Given the description of an element on the screen output the (x, y) to click on. 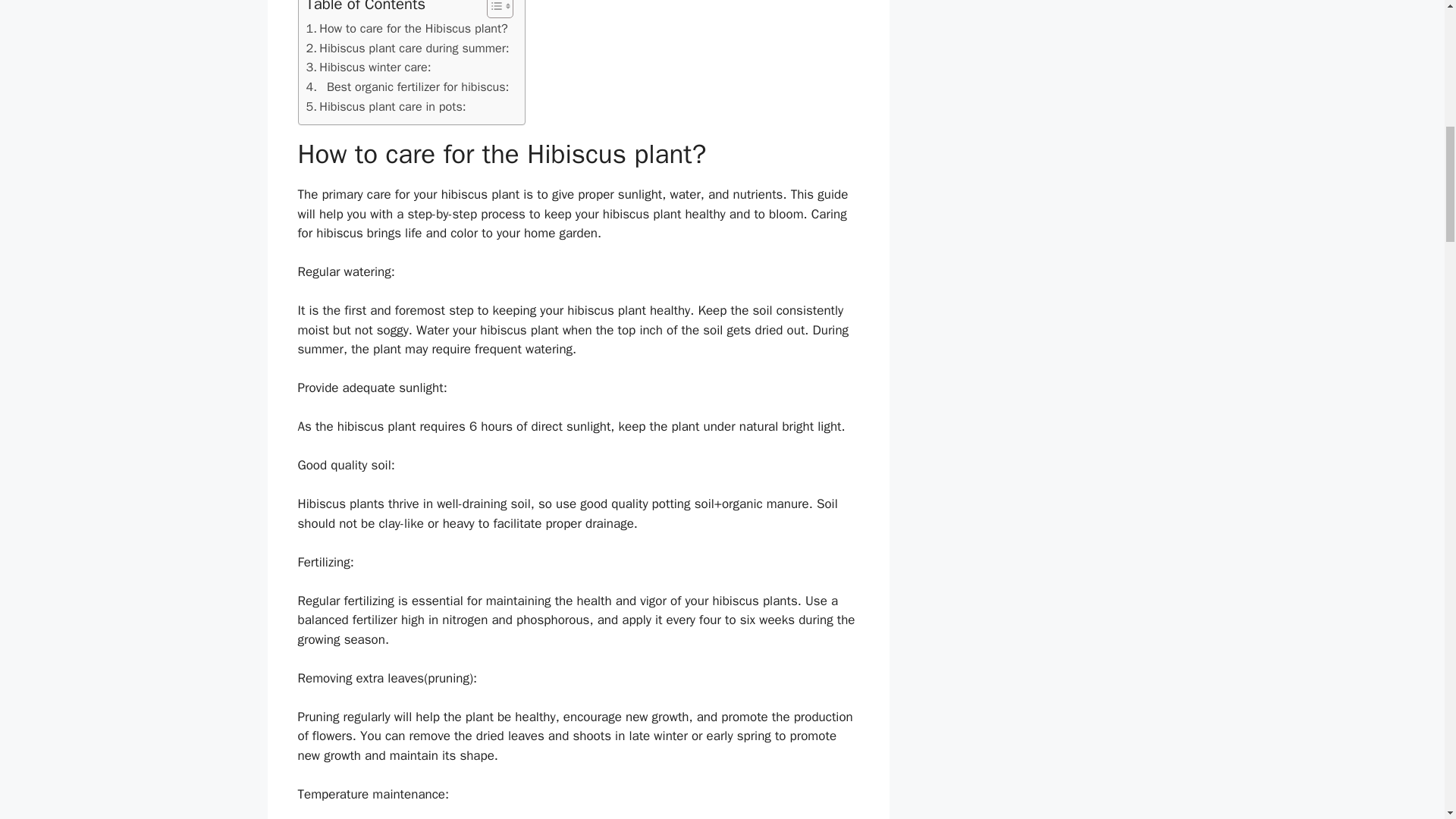
Hibiscus winter care: (367, 66)
Hibiscus plant care during summer: (407, 48)
How to care for the Hibiscus plant? (406, 28)
Hibiscus winter care: (367, 66)
Hibiscus plant care during summer: (407, 48)
Hibiscus plant care in pots: (385, 107)
Hibiscus plant care in pots: (385, 107)
How to care for the Hibiscus plant? (406, 28)
  Best organic fertilizer for hibiscus: (407, 86)
